Given the description of an element on the screen output the (x, y) to click on. 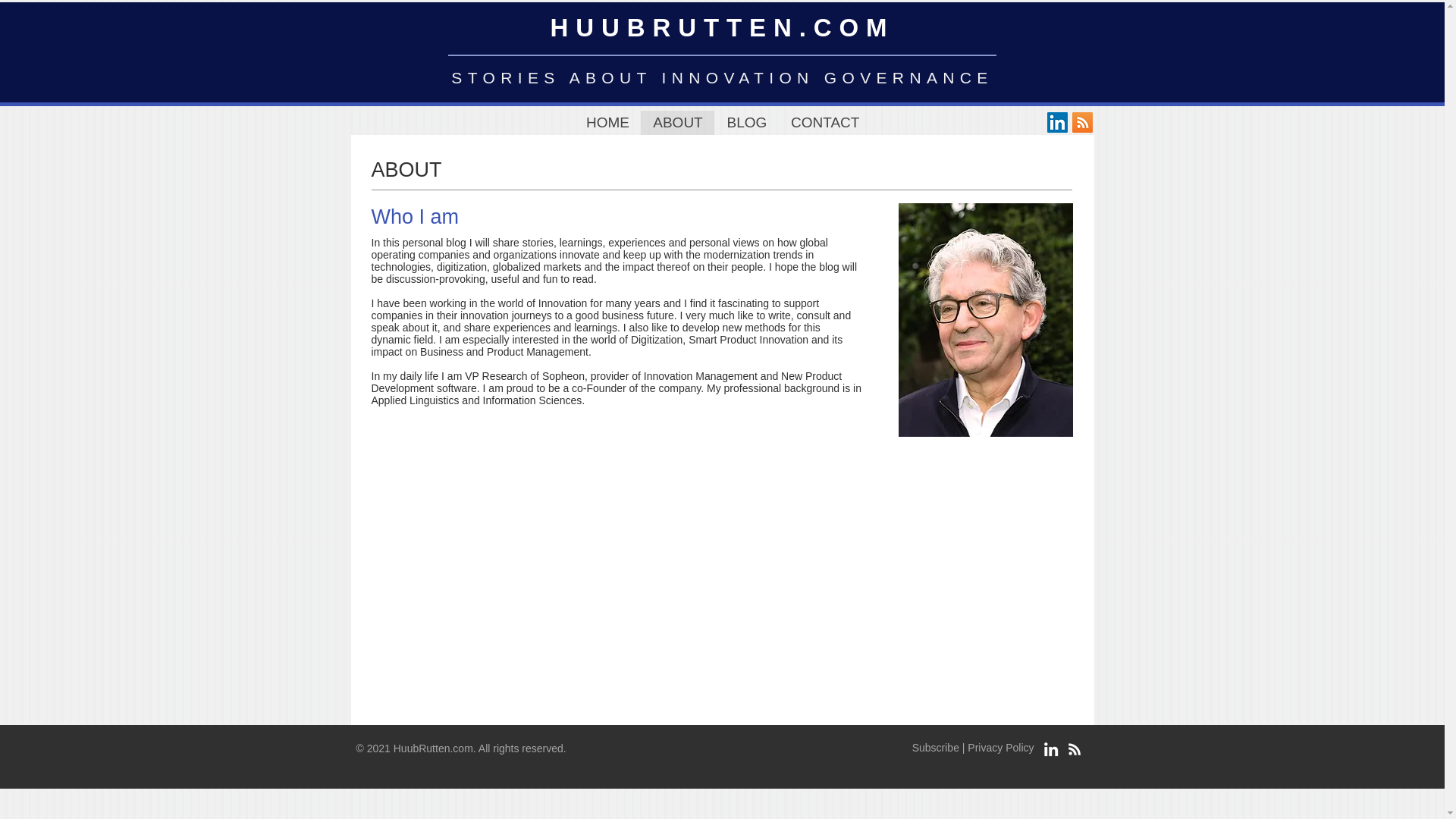
HOME (606, 122)
BLOG (746, 122)
Subscribe (935, 747)
HUUBRUTTEN.COM (722, 27)
Privacy Policy (1000, 747)
CONTACT (824, 122)
ABOUT (677, 122)
